Given the description of an element on the screen output the (x, y) to click on. 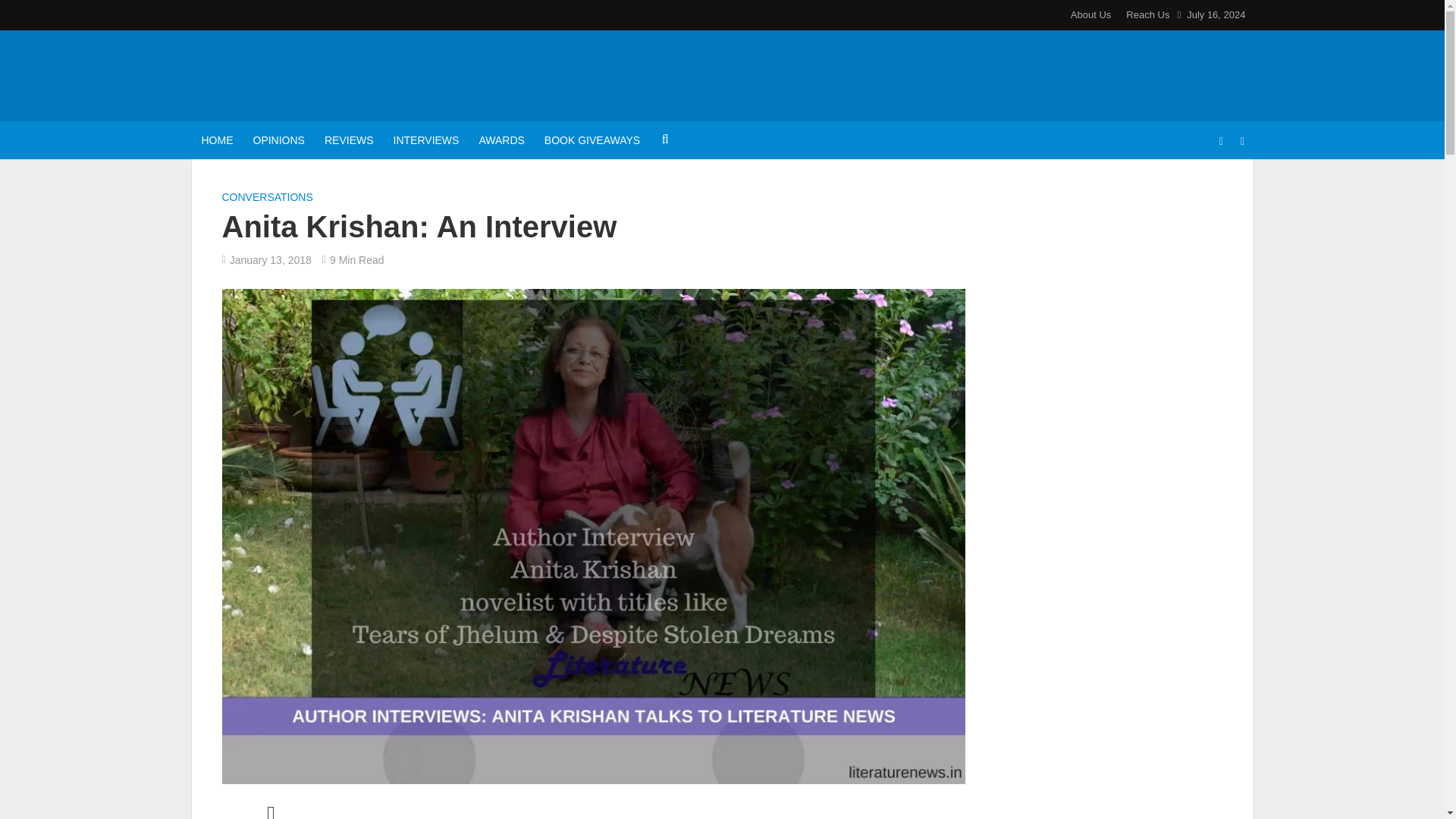
AWARDS (501, 139)
INTERVIEWS (426, 139)
CONVERSATIONS (267, 198)
HOME (216, 139)
Add Comment (270, 812)
BOOK GIVEAWAYS (591, 139)
REVIEWS (349, 139)
About Us (1090, 15)
Reach Us (1143, 15)
OPINIONS (278, 139)
